Given the description of an element on the screen output the (x, y) to click on. 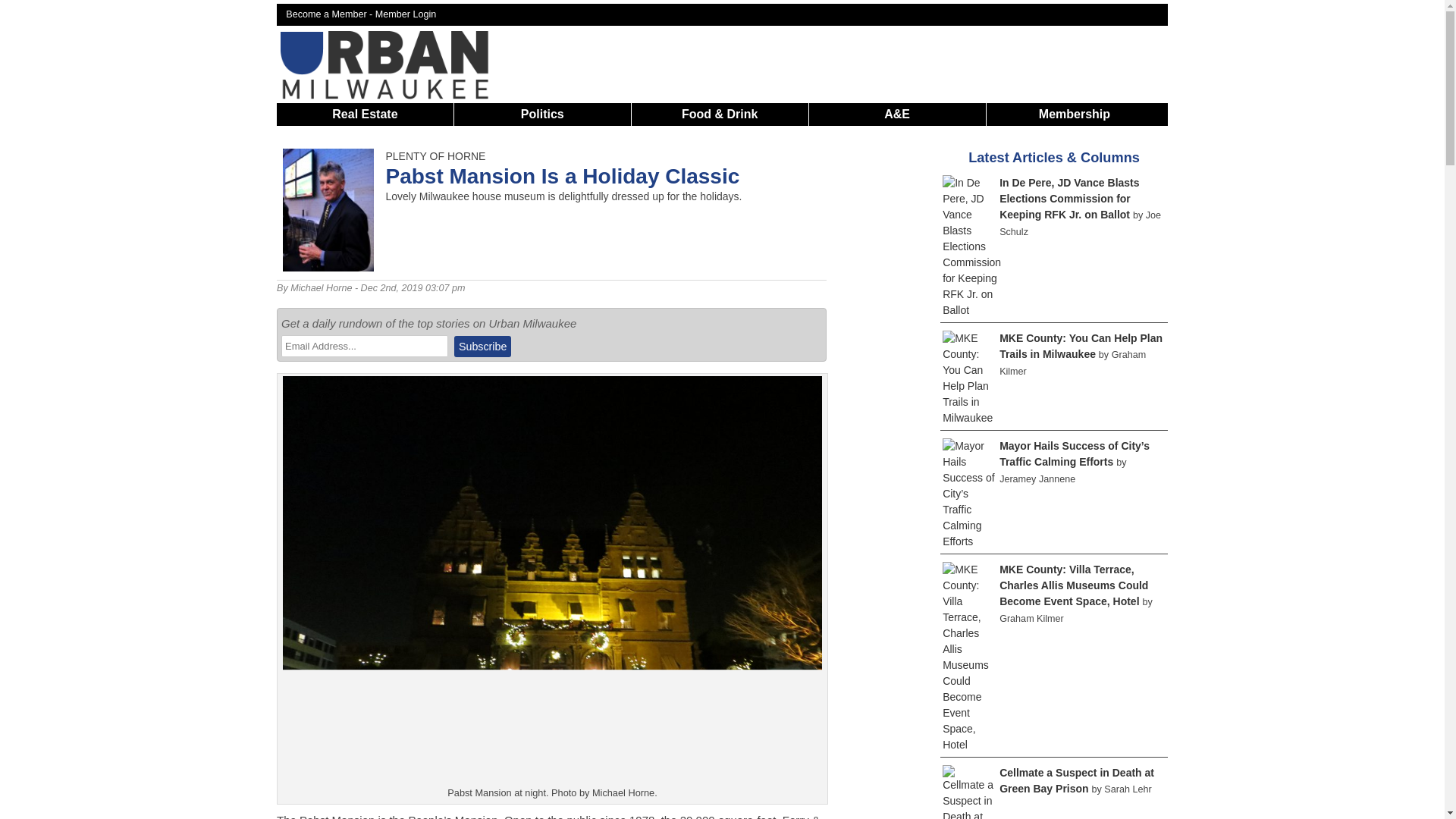
Membership (1074, 113)
Politics (542, 113)
Become a Member - (330, 14)
Posts by Michael Horne (320, 287)
Subscribe (482, 346)
Member Login (405, 14)
Subscribe (482, 346)
Real Estate (364, 113)
Michael Horne (320, 287)
